Given the description of an element on the screen output the (x, y) to click on. 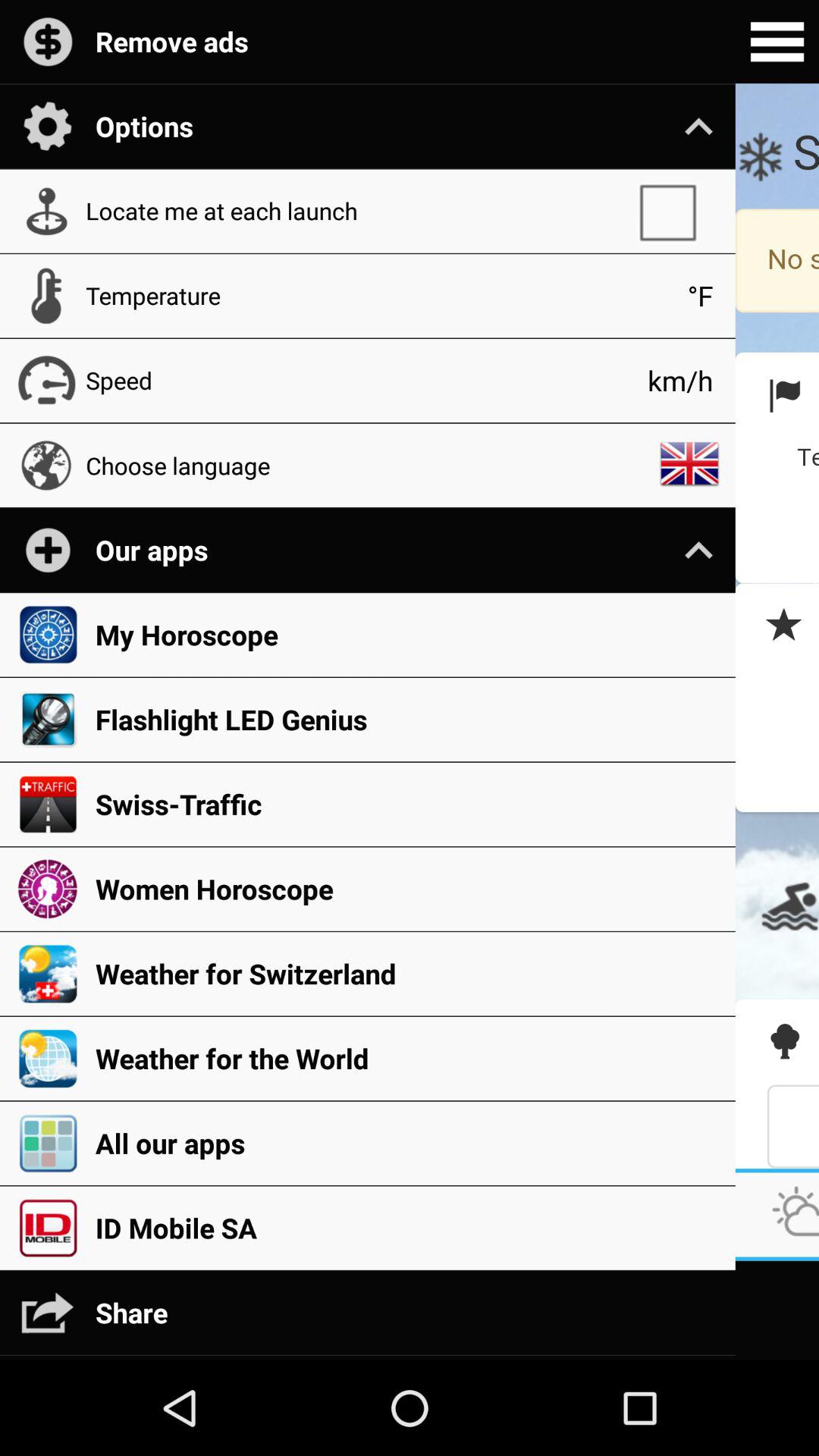
switch the location option (675, 211)
